Given the description of an element on the screen output the (x, y) to click on. 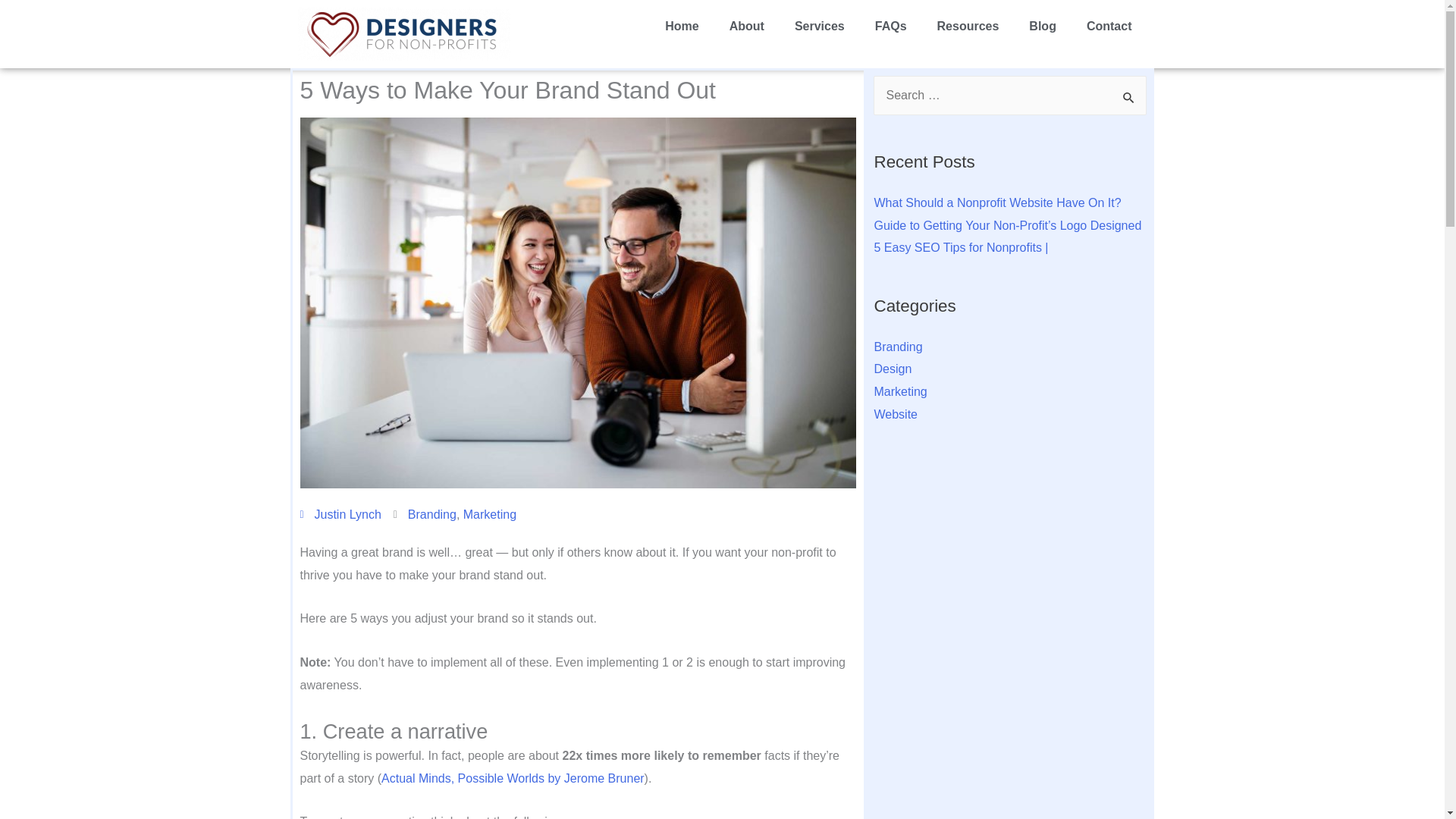
Branding (432, 513)
Resources (967, 26)
Blog (1042, 26)
Services (819, 26)
Marketing (489, 513)
DFNPLogo-Full02-L (403, 33)
Contact (1109, 26)
FAQs (890, 26)
Justin Lynch (340, 514)
About (746, 26)
